Given the description of an element on the screen output the (x, y) to click on. 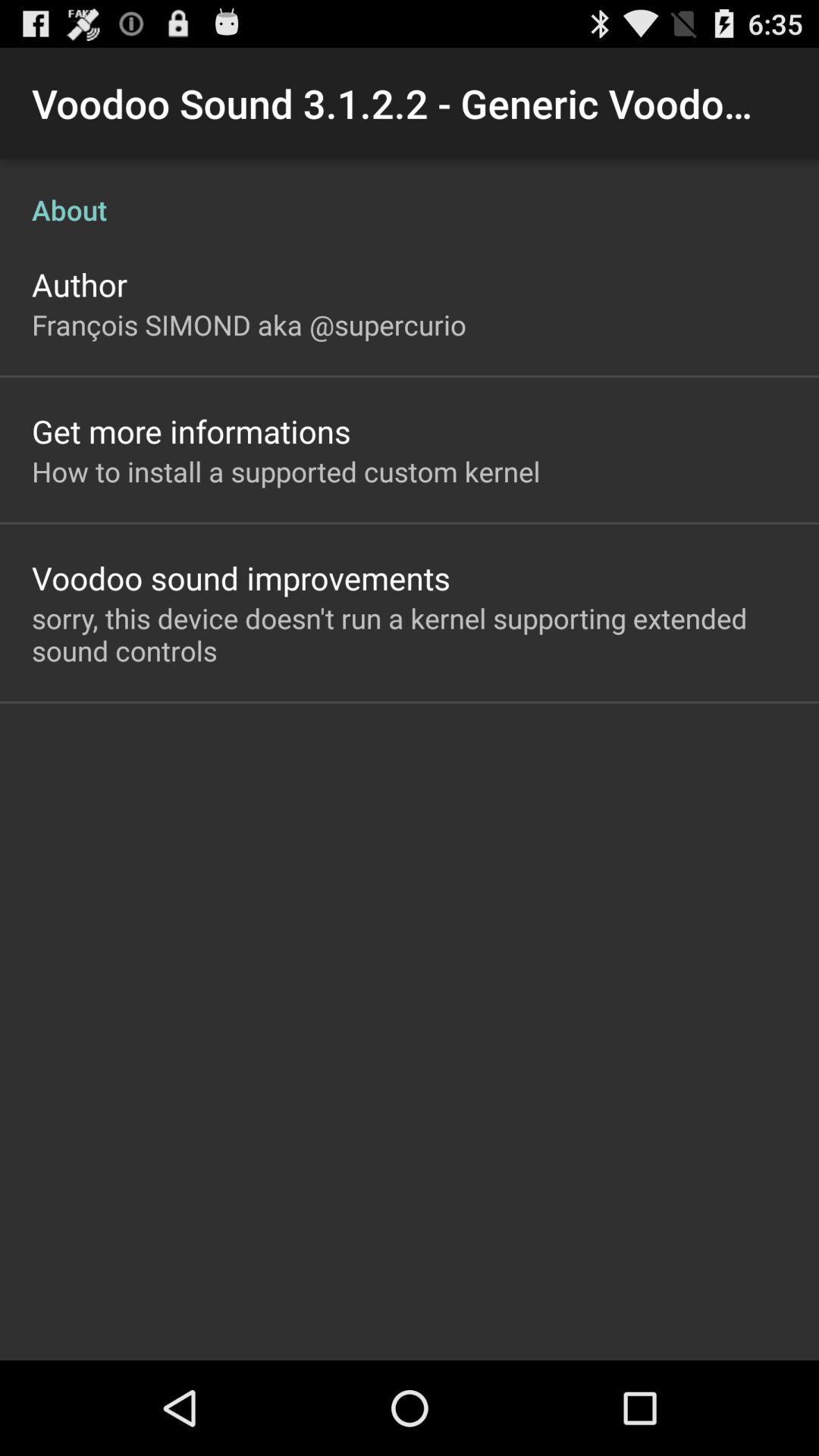
choose how to install icon (285, 471)
